Given the description of an element on the screen output the (x, y) to click on. 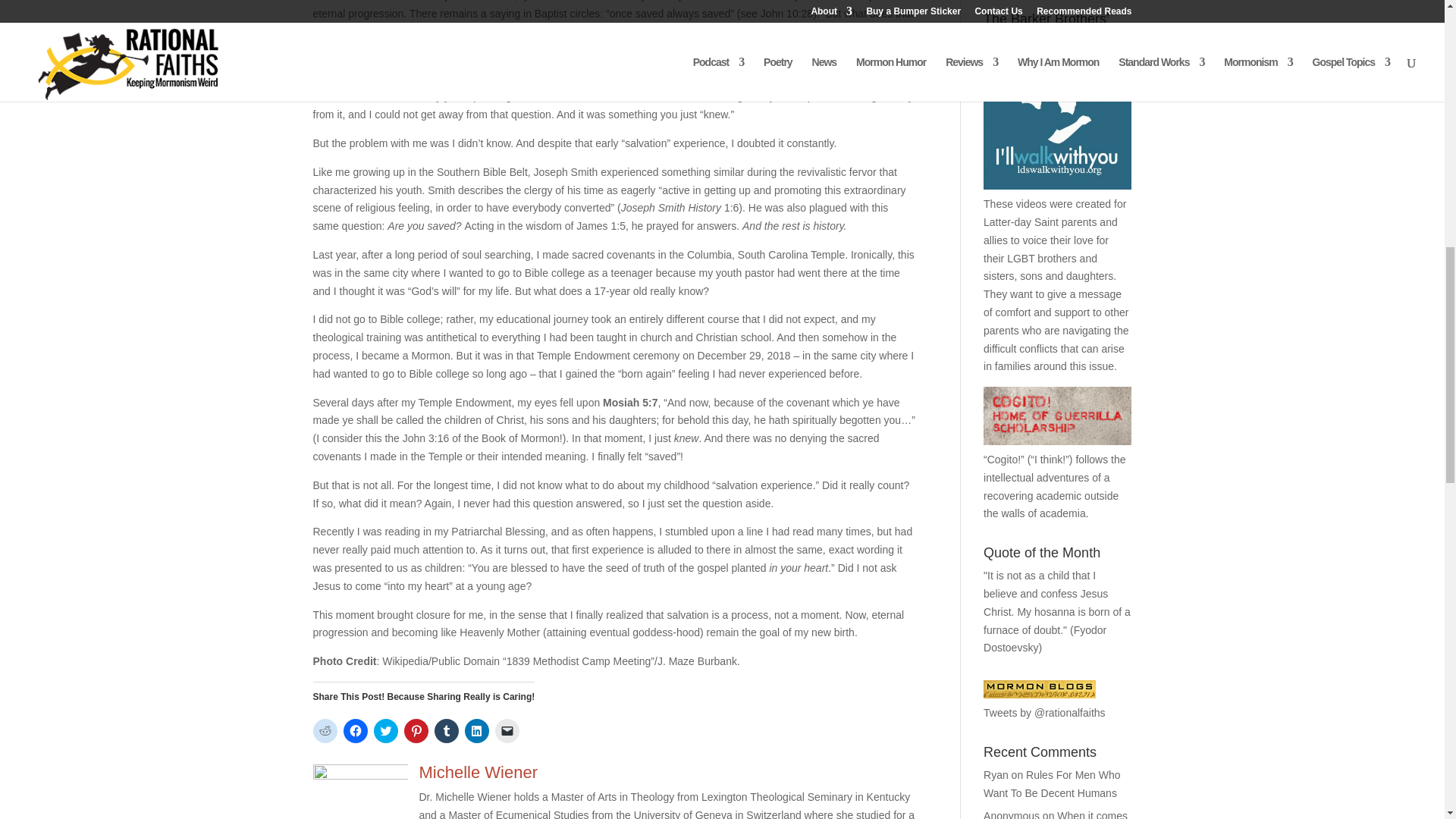
Click to share on Pinterest (415, 730)
Posts by Michelle Wiener (478, 772)
Click to share on LinkedIn (475, 730)
Click to share on Tumblr (445, 730)
Click to share on Facebook (354, 730)
Click to email a link to a friend (506, 730)
Click to share on Twitter (384, 730)
Click to share on Reddit (324, 730)
